Given the description of an element on the screen output the (x, y) to click on. 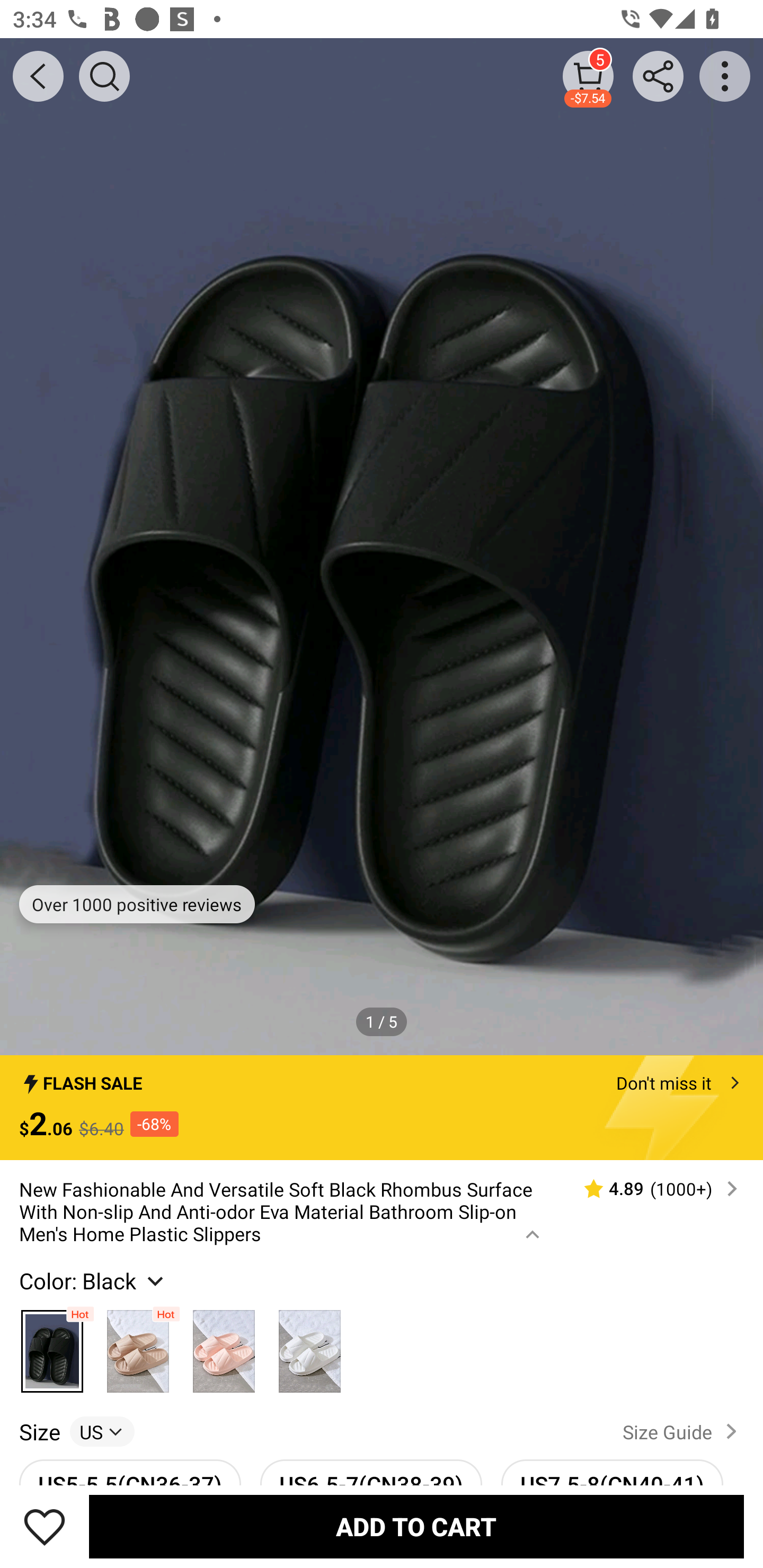
BACK (38, 75)
5 -$7.54 (588, 75)
1 / 5 (381, 1021)
FLASH SALE Don't miss it $2.06 $6.40 -68% (381, 1107)
FLASH SALE Don't miss it (381, 1077)
4.89 (1000‎+) (653, 1188)
Color: Black (93, 1280)
Black (52, 1346)
Brown (138, 1346)
Pink (224, 1346)
White (309, 1346)
Size (39, 1431)
US (102, 1431)
Size Guide (682, 1431)
ADD TO CART (416, 1526)
Save (44, 1526)
